Given the description of an element on the screen output the (x, y) to click on. 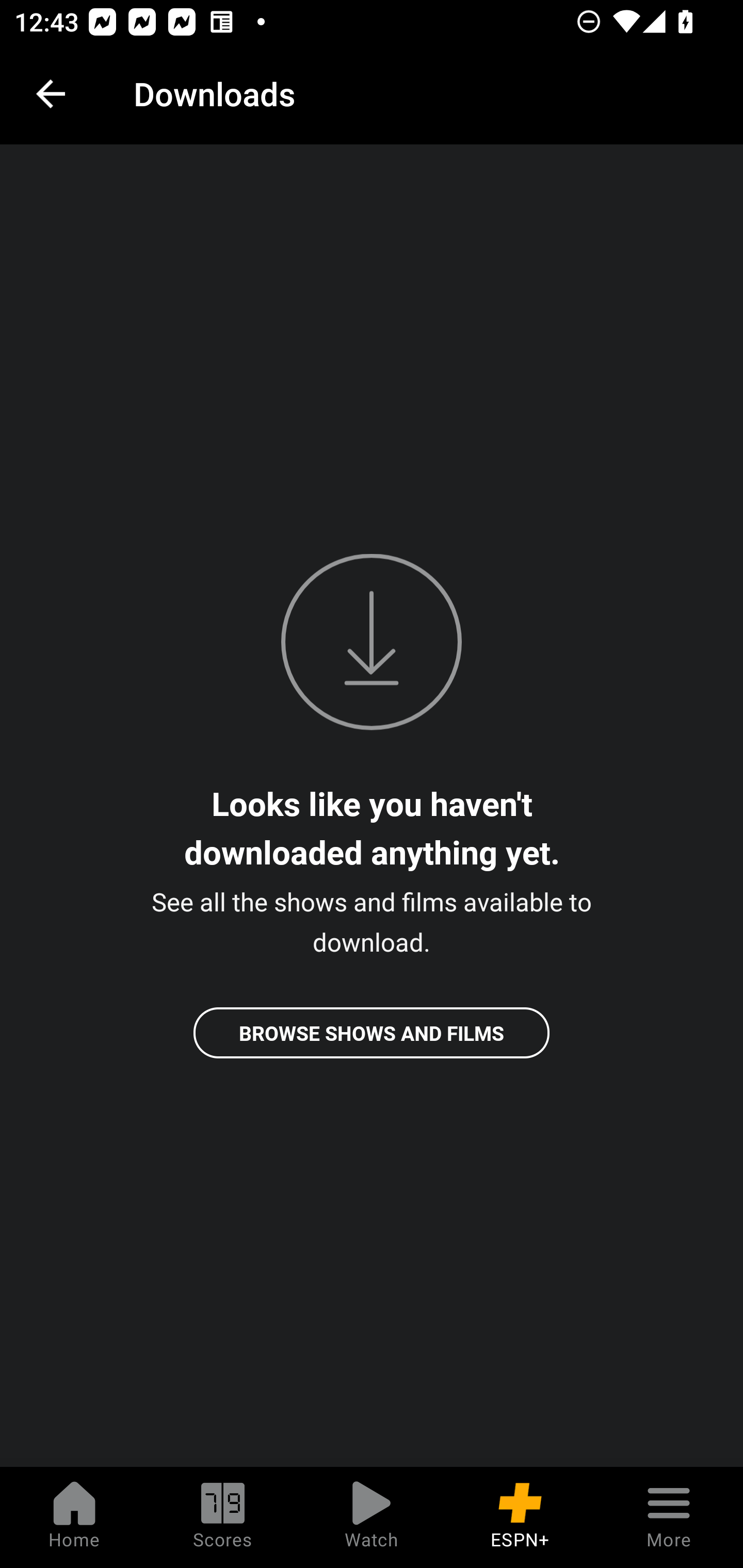
BROWSE SHOWS AND FILMS (371, 1032)
Home (74, 1517)
Scores (222, 1517)
Watch (371, 1517)
More (668, 1517)
